Given the description of an element on the screen output the (x, y) to click on. 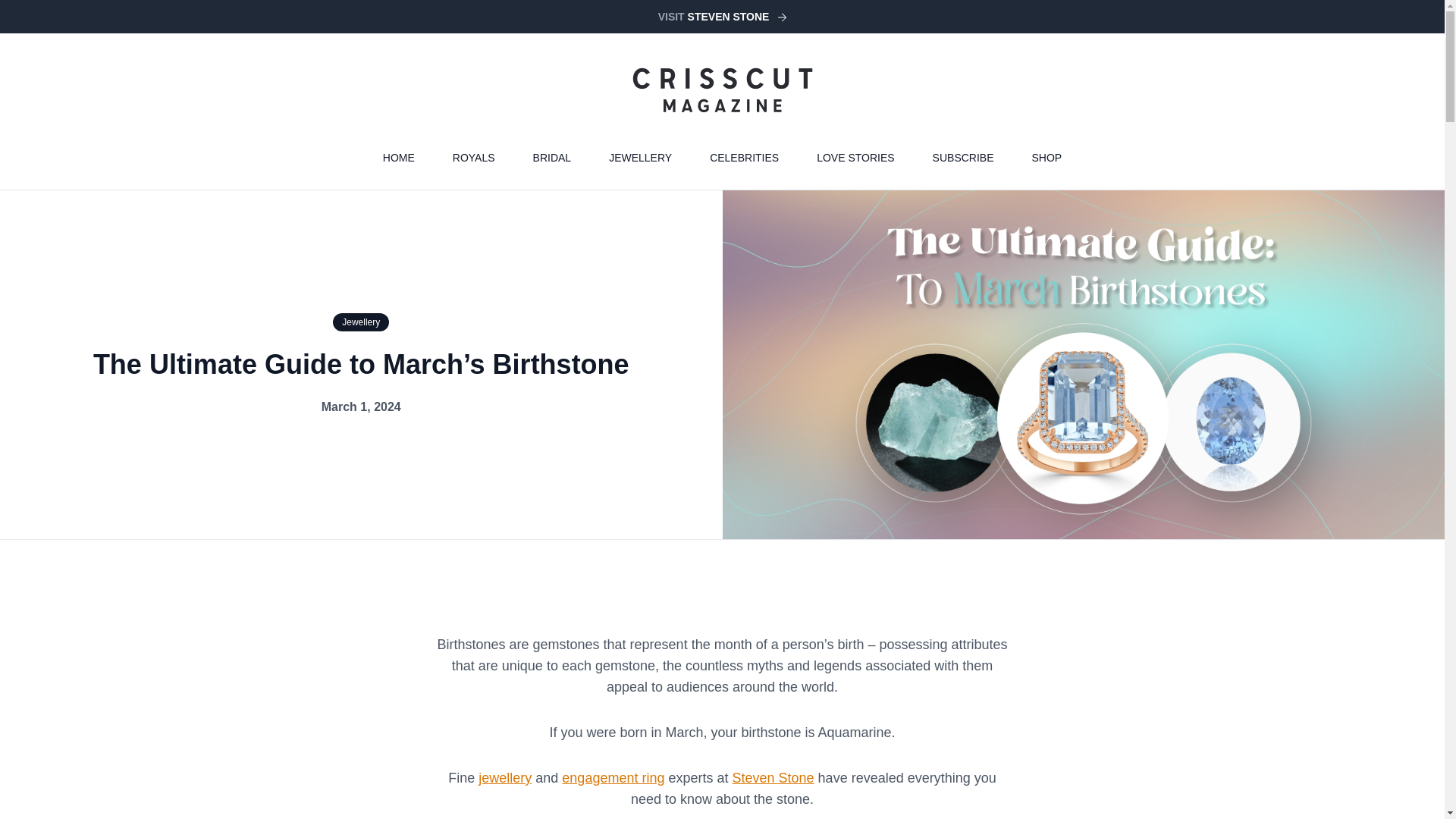
HOME (398, 157)
CELEBRITIES (744, 157)
SHOP (1046, 157)
ment ring (635, 777)
VISIT STEVEN STONE (722, 16)
jewellery (505, 777)
BRIDAL (552, 157)
Steven Stone (772, 777)
JEWELLERY (640, 157)
ROYALS (473, 157)
SUBSCRIBE (962, 157)
engage (584, 777)
LOVE STORIES (855, 157)
